Given the description of an element on the screen output the (x, y) to click on. 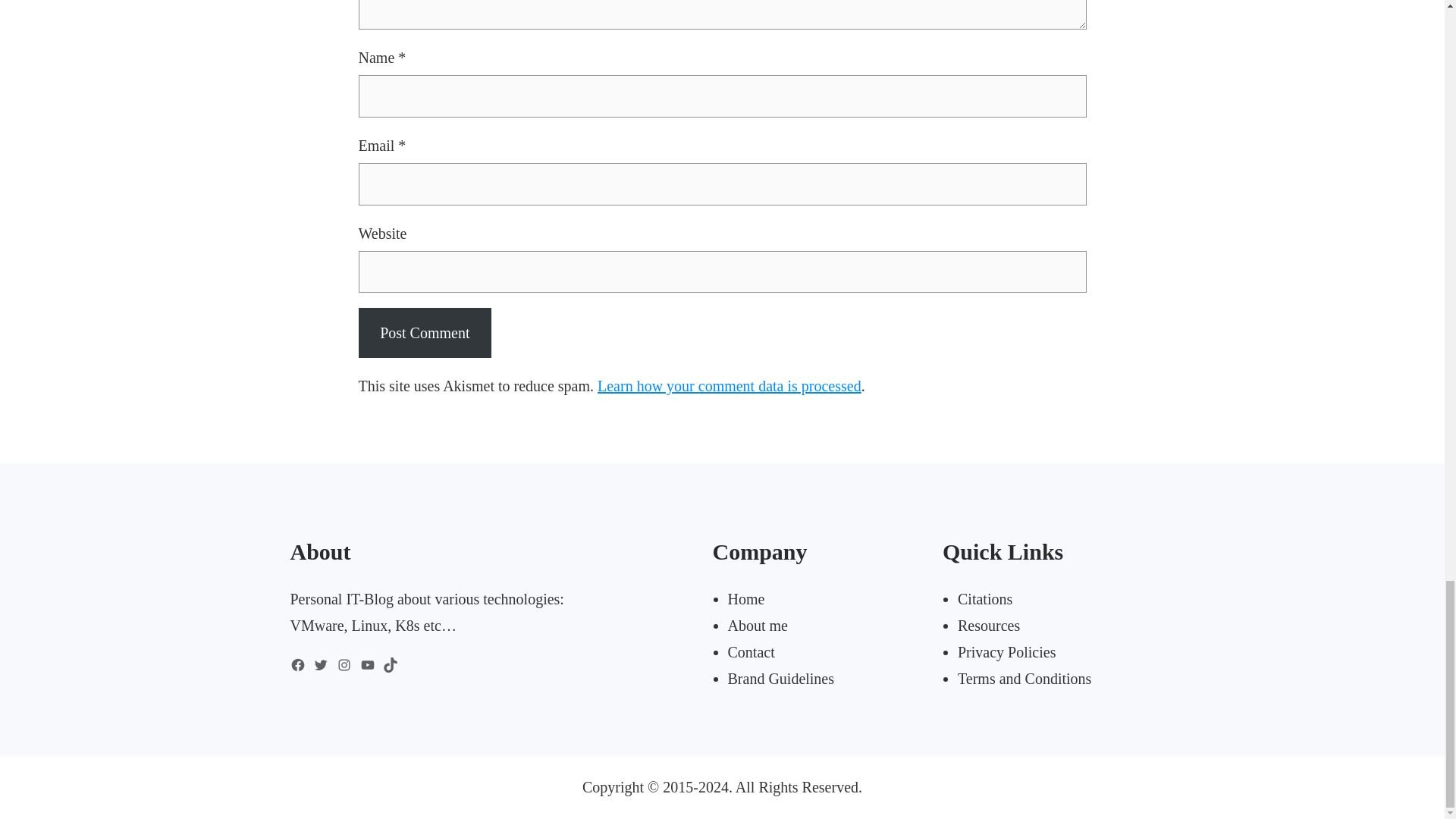
About me (757, 625)
TikTok (389, 664)
Contact (751, 651)
Twitter (321, 664)
Facebook (296, 664)
YouTube (367, 664)
Home (746, 598)
Instagram (344, 664)
Learn how your comment data is processed (728, 385)
Post Comment (425, 332)
Terms and Conditions (1024, 678)
Citations (984, 598)
Resources (989, 625)
Brand Guidelines (781, 678)
Post Comment (425, 332)
